Given the description of an element on the screen output the (x, y) to click on. 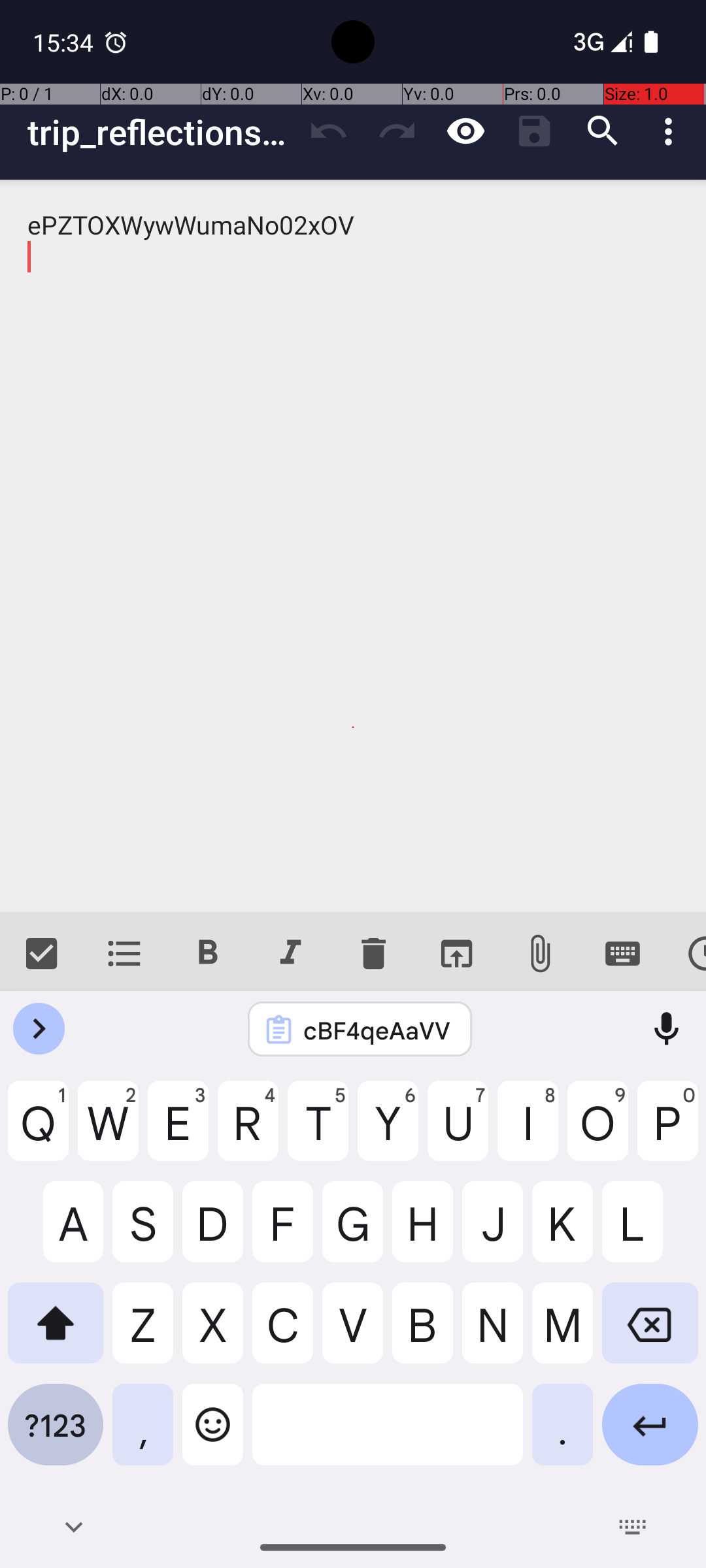
trip_reflections_recent_final Element type: android.widget.TextView (160, 131)
ePZTOXWywWumaNo02xOV
 Element type: android.widget.EditText (353, 545)
cBF4qeAaVV Element type: android.widget.TextView (377, 1029)
